Given the description of an element on the screen output the (x, y) to click on. 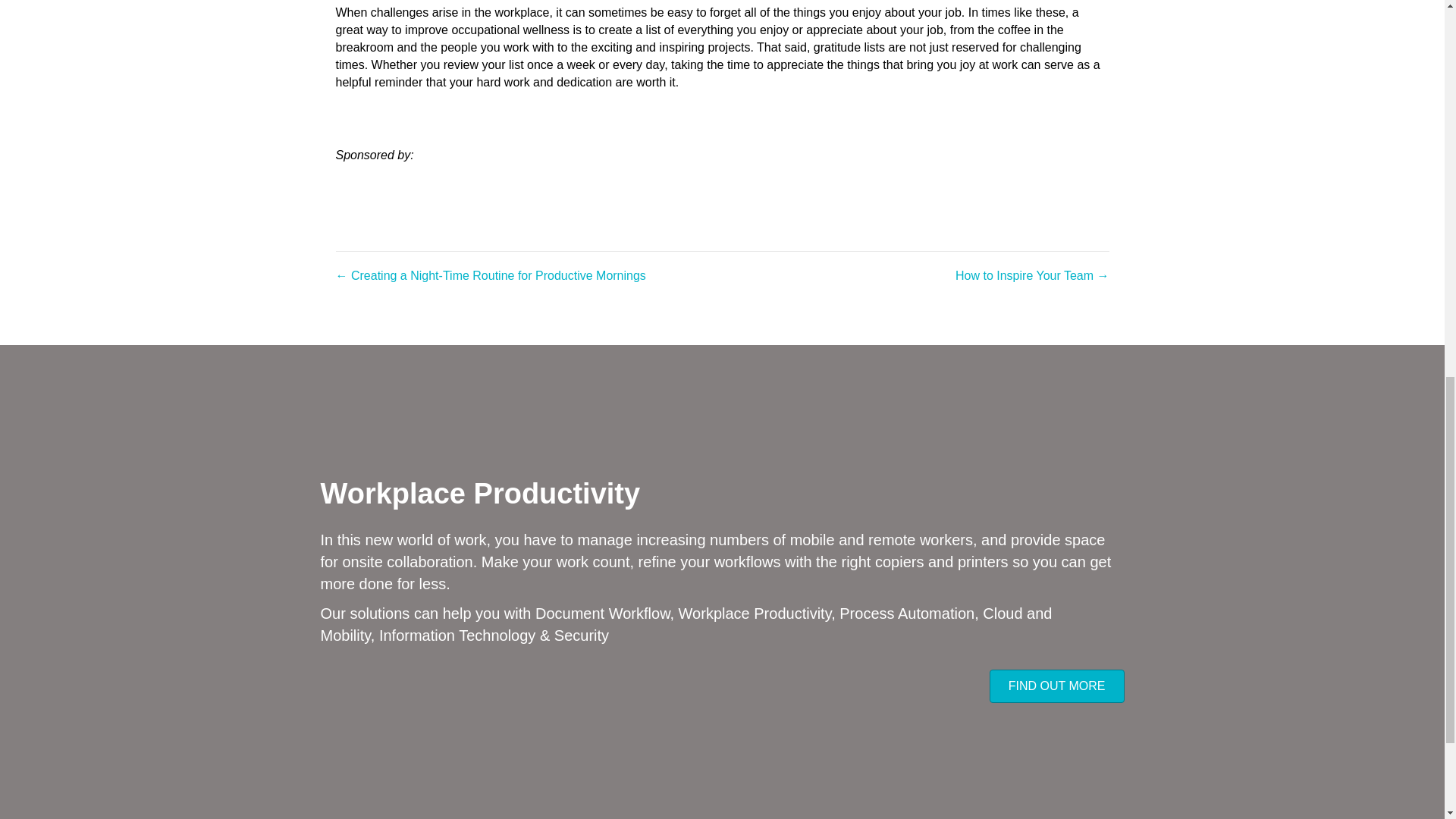
What is Occupational Wellness? 1 (530, 155)
What is Occupational Wellness? 2 (764, 155)
